Given the description of an element on the screen output the (x, y) to click on. 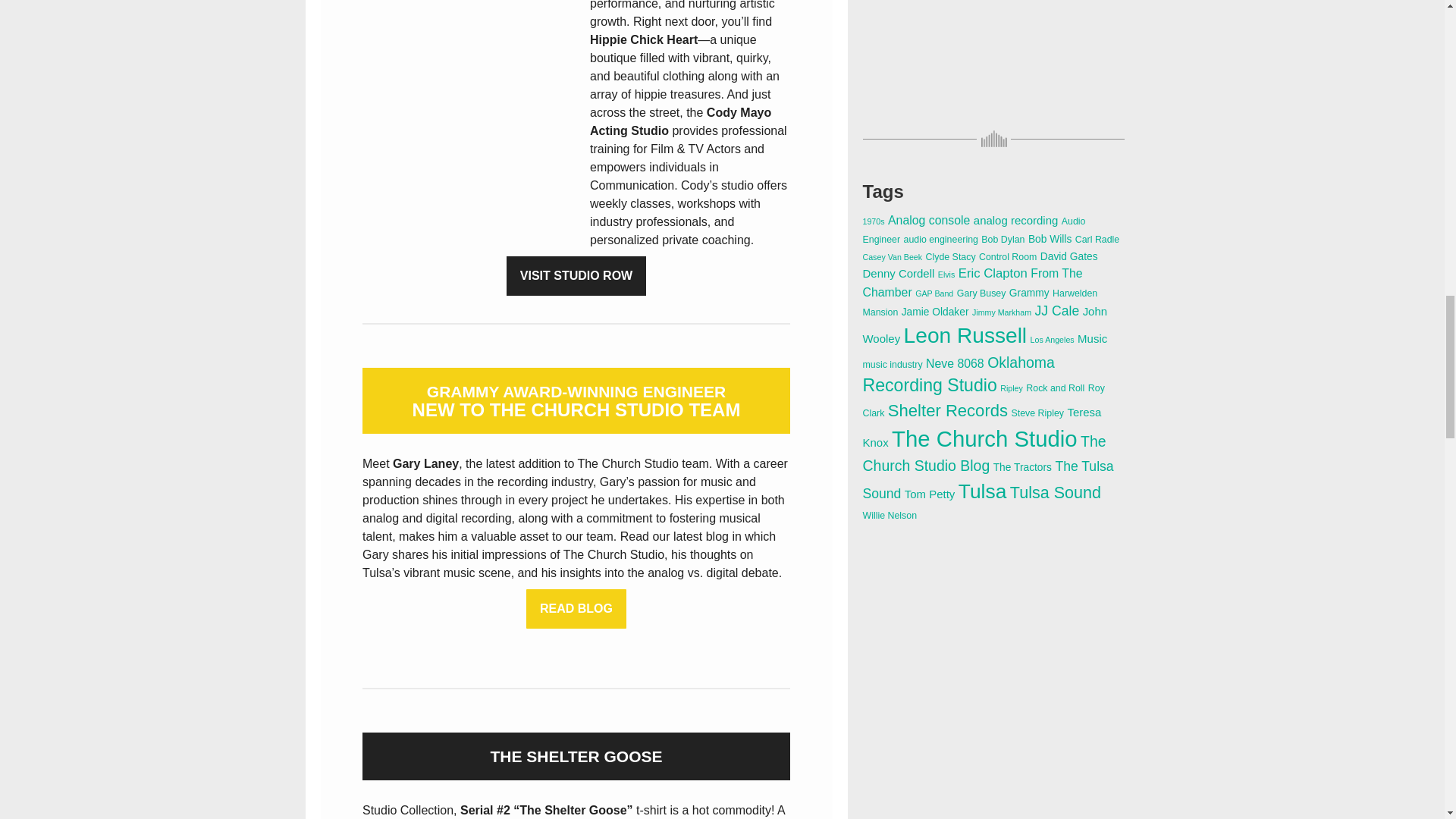
VISIT STUDIO ROW (575, 275)
READ BLOG (576, 608)
